Given the description of an element on the screen output the (x, y) to click on. 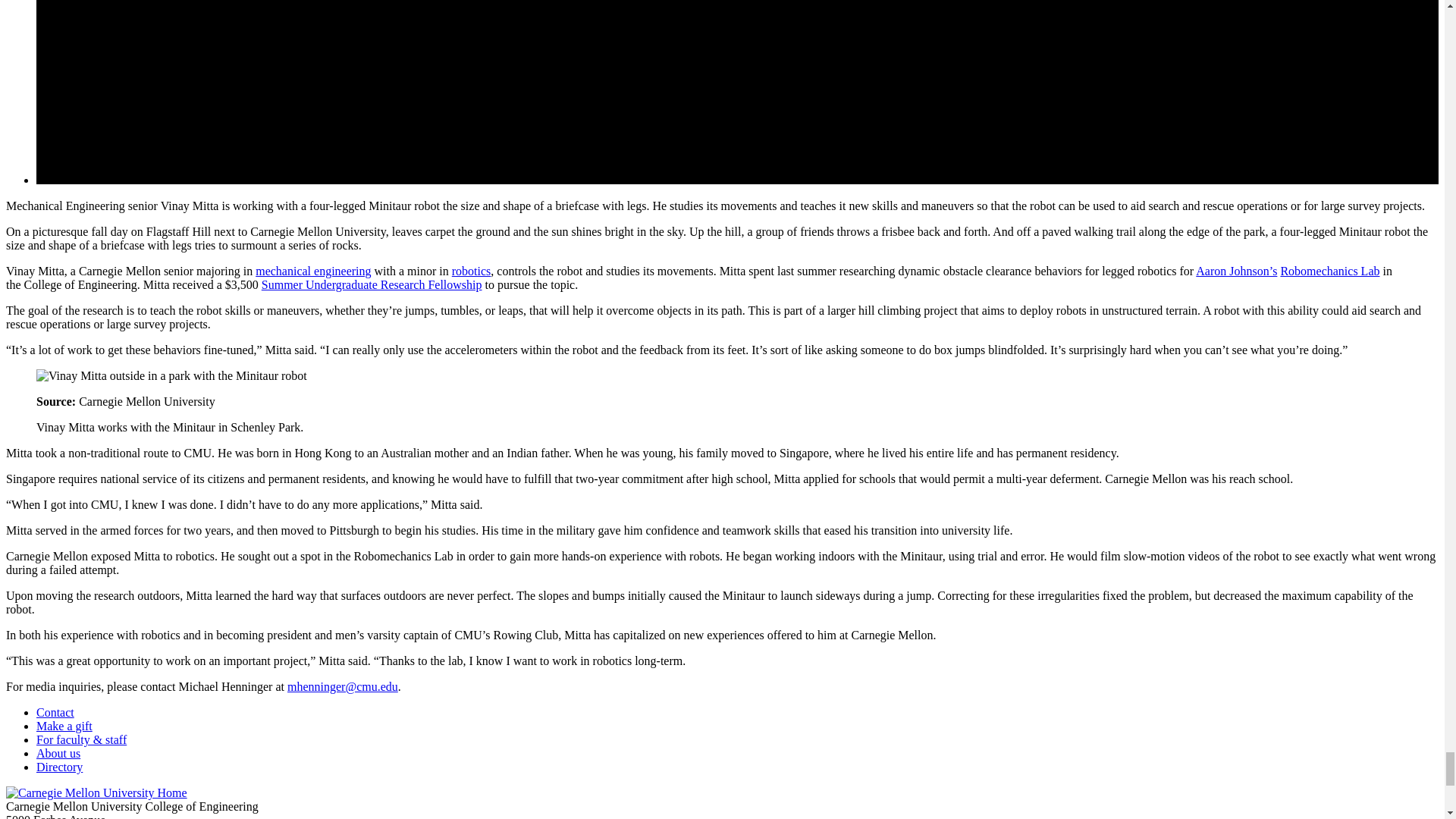
Contact (55, 712)
Robomechanics Lab (1328, 270)
Summer Undergraduate Research Fellowship (371, 284)
mechanical engineering (313, 270)
robotics (471, 270)
